Given the description of an element on the screen output the (x, y) to click on. 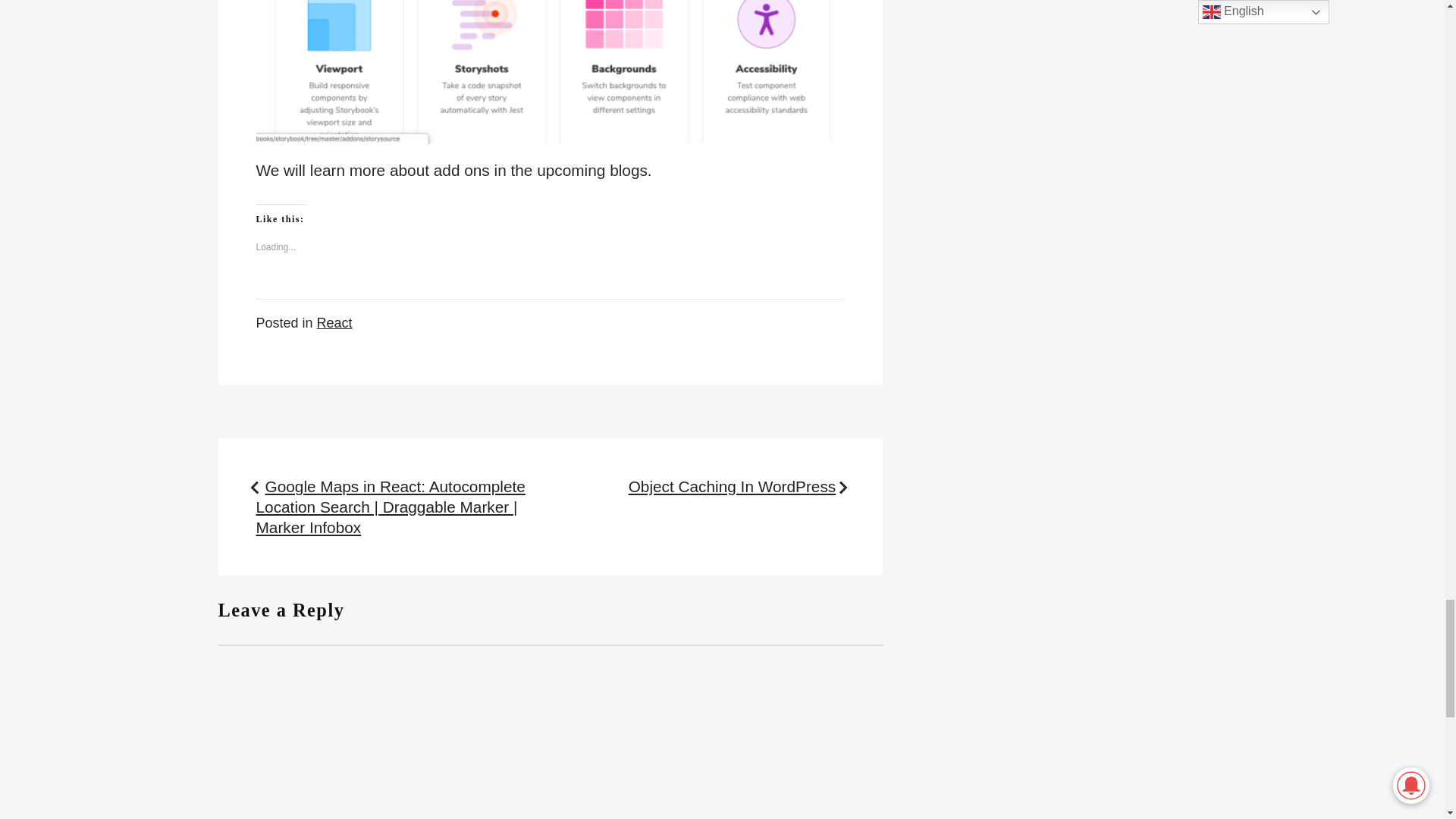
React (334, 322)
Object Caching In WordPress (731, 486)
Comment Form (550, 731)
